Given the description of an element on the screen output the (x, y) to click on. 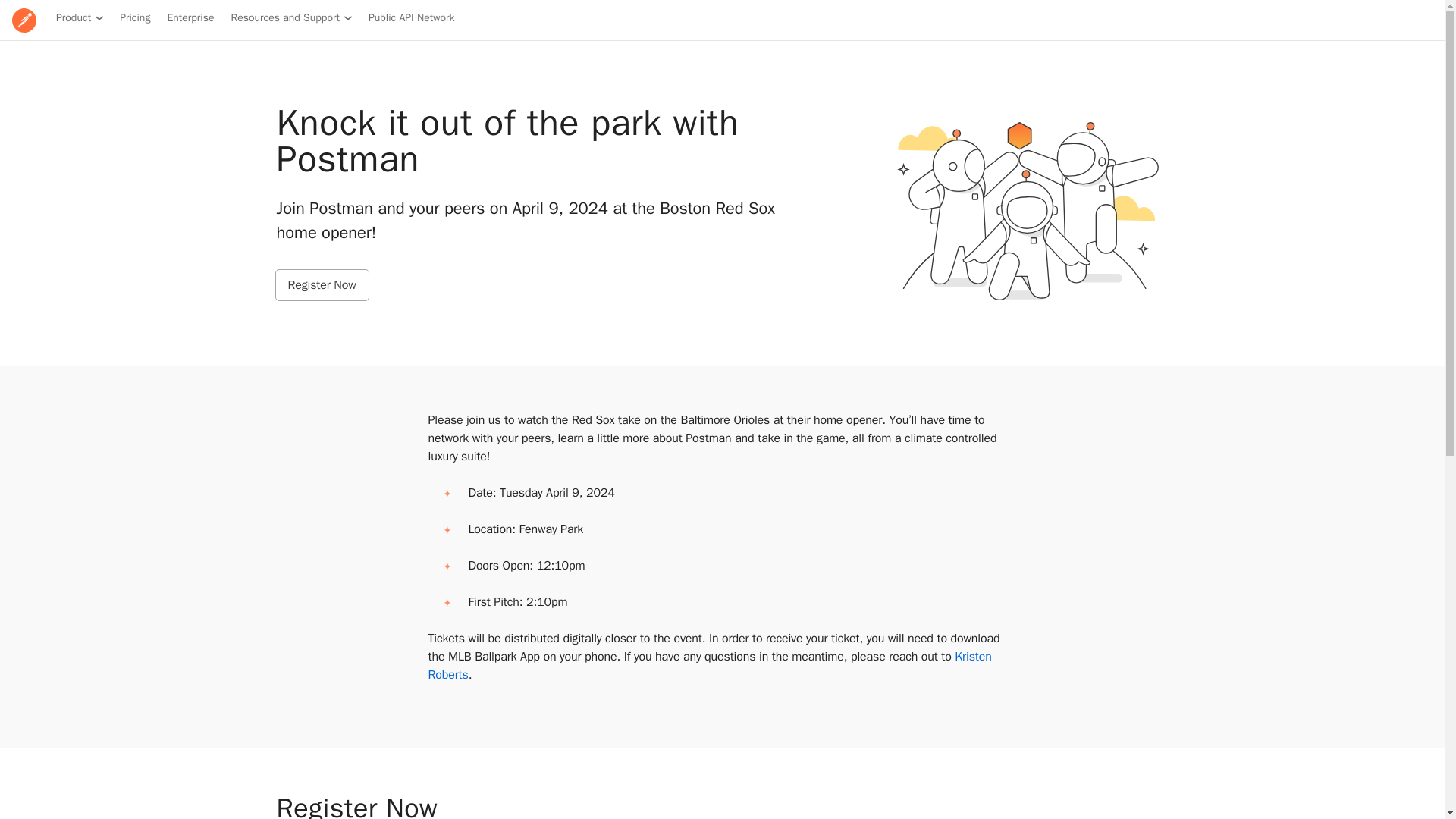
Register Now (321, 285)
Kristen Roberts (709, 666)
Pricing (134, 18)
Public API Network (411, 18)
Enterprise (190, 18)
